Given the description of an element on the screen output the (x, y) to click on. 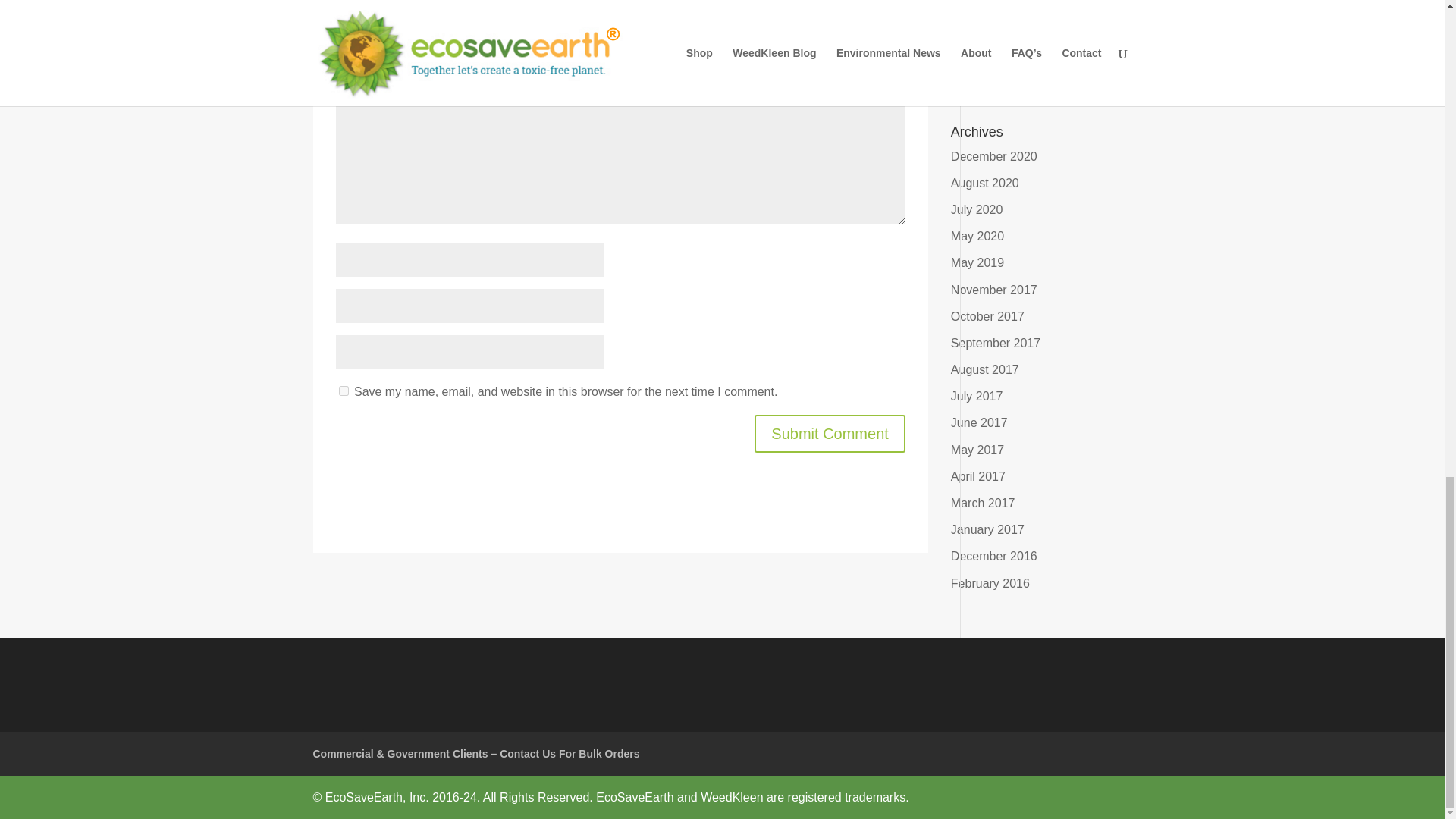
yes (342, 390)
Submit Comment (829, 433)
Submit Comment (829, 433)
